Given the description of an element on the screen output the (x, y) to click on. 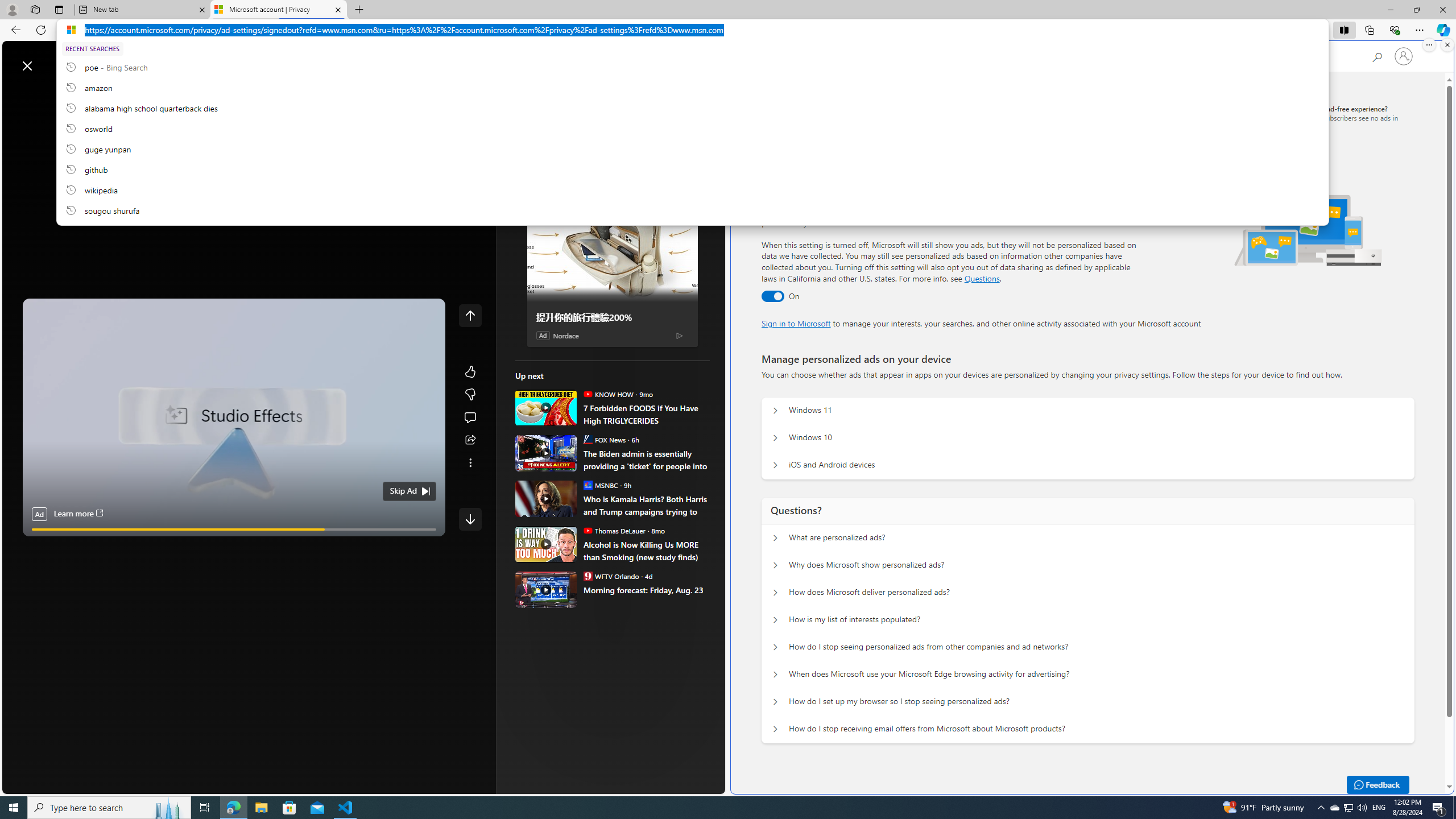
Skip Ad (403, 490)
Morning forecast: Friday, Aug. 23 (646, 589)
Like (469, 371)
KNOW HOW (587, 393)
MSNBC (587, 484)
Skip to content (49, 59)
Help (915, 54)
